Given the description of an element on the screen output the (x, y) to click on. 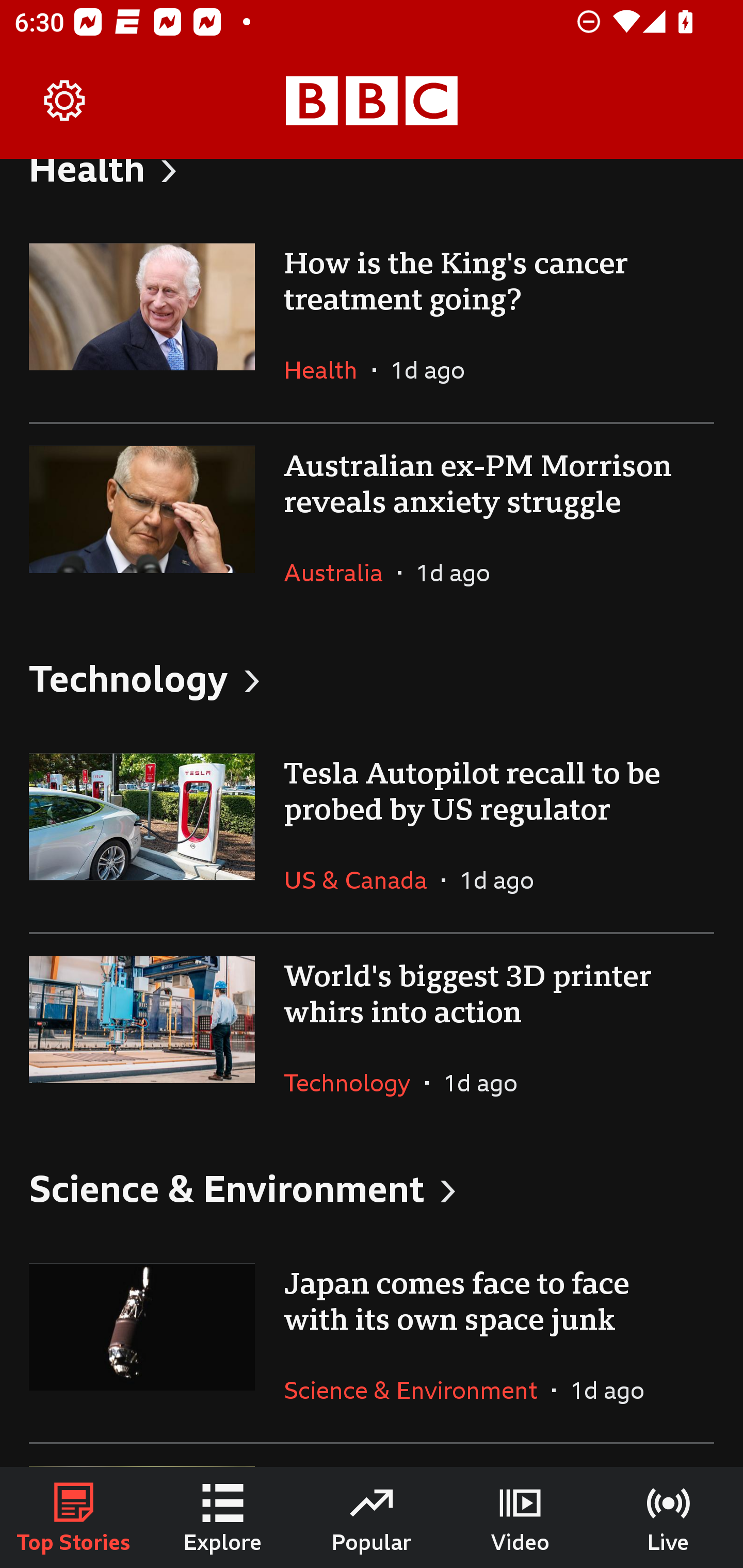
Settings (64, 100)
Health, Heading Health    (371, 189)
Health In the section Health (327, 369)
Australia In the section Australia (340, 572)
Technology, Heading Technology    (371, 677)
US & Canada In the section US & Canada (362, 879)
Technology In the section Technology (353, 1082)
Explore (222, 1517)
Popular (371, 1517)
Video (519, 1517)
Live (668, 1517)
